Given the description of an element on the screen output the (x, y) to click on. 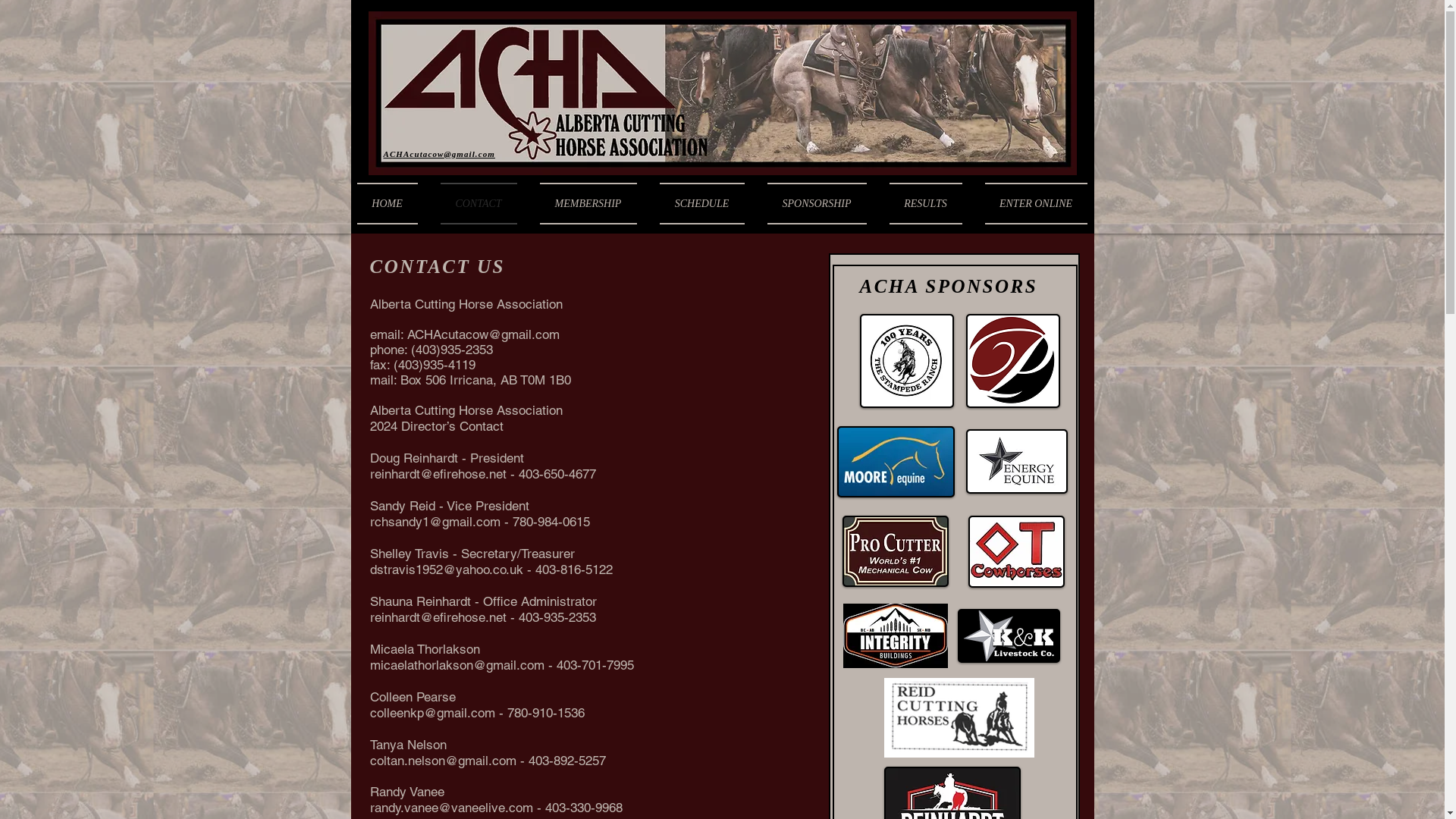
SCHEDULE Element type: text (701, 203)
randy.vanee@vaneelive.com Element type: text (451, 807)
micaelathorlakson@gmail.com Element type: text (457, 664)
ENTER ONLINE Element type: text (1030, 203)
SPONSORSHIP Element type: text (816, 203)
ACHAcutacow@gmail.com Element type: text (482, 334)
coltan.nelson@gmail.com Element type: text (443, 760)
MEMBERSHIP Element type: text (587, 203)
CONTACT Element type: text (478, 203)
colleenkp@gmail.com Element type: text (432, 712)
ACHAcutacow@gmail.com Element type: text (439, 153)
RESULTS Element type: text (925, 203)
HOME Element type: text (392, 203)
